Given the description of an element on the screen output the (x, y) to click on. 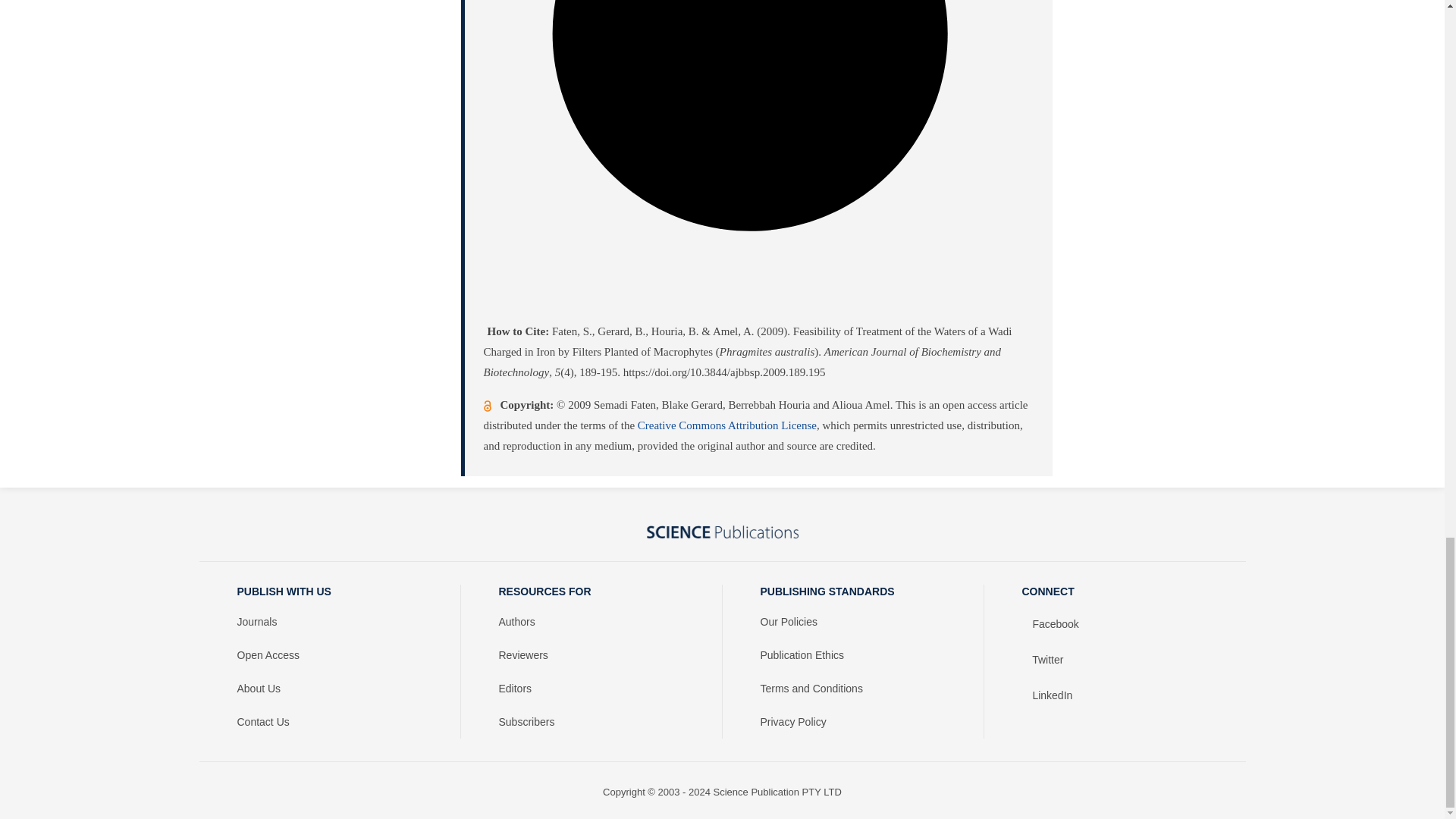
Creative Commons Attribution License (726, 425)
Science Publications (721, 531)
Journals (328, 621)
